Given the description of an element on the screen output the (x, y) to click on. 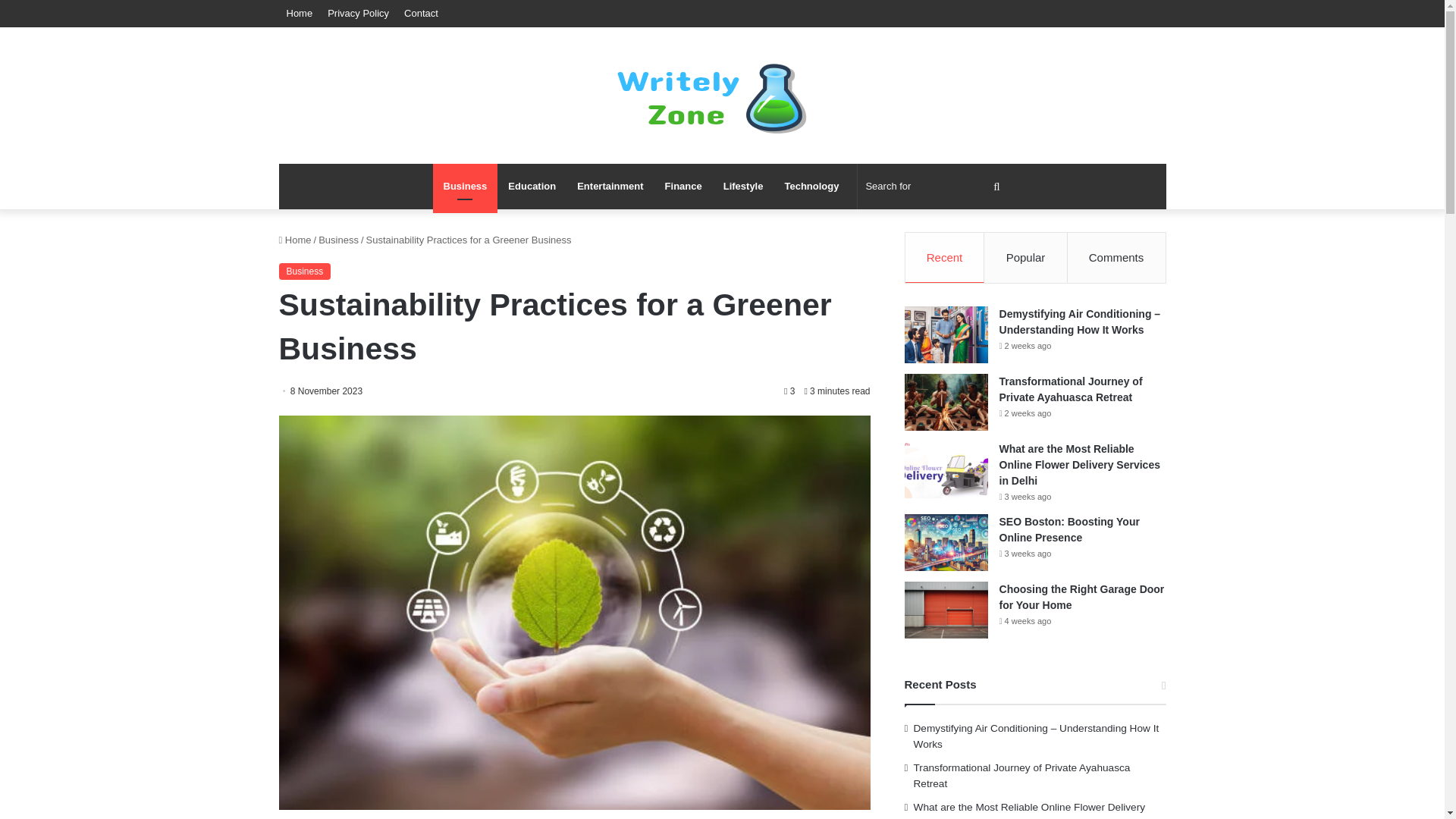
Business (305, 271)
Entertainment (609, 186)
Home (299, 13)
Recent (945, 257)
Education (531, 186)
Comments (1116, 257)
Popular (1025, 257)
Privacy Policy (358, 13)
Lifestyle (743, 186)
writelyzone.com (721, 95)
